Given the description of an element on the screen output the (x, y) to click on. 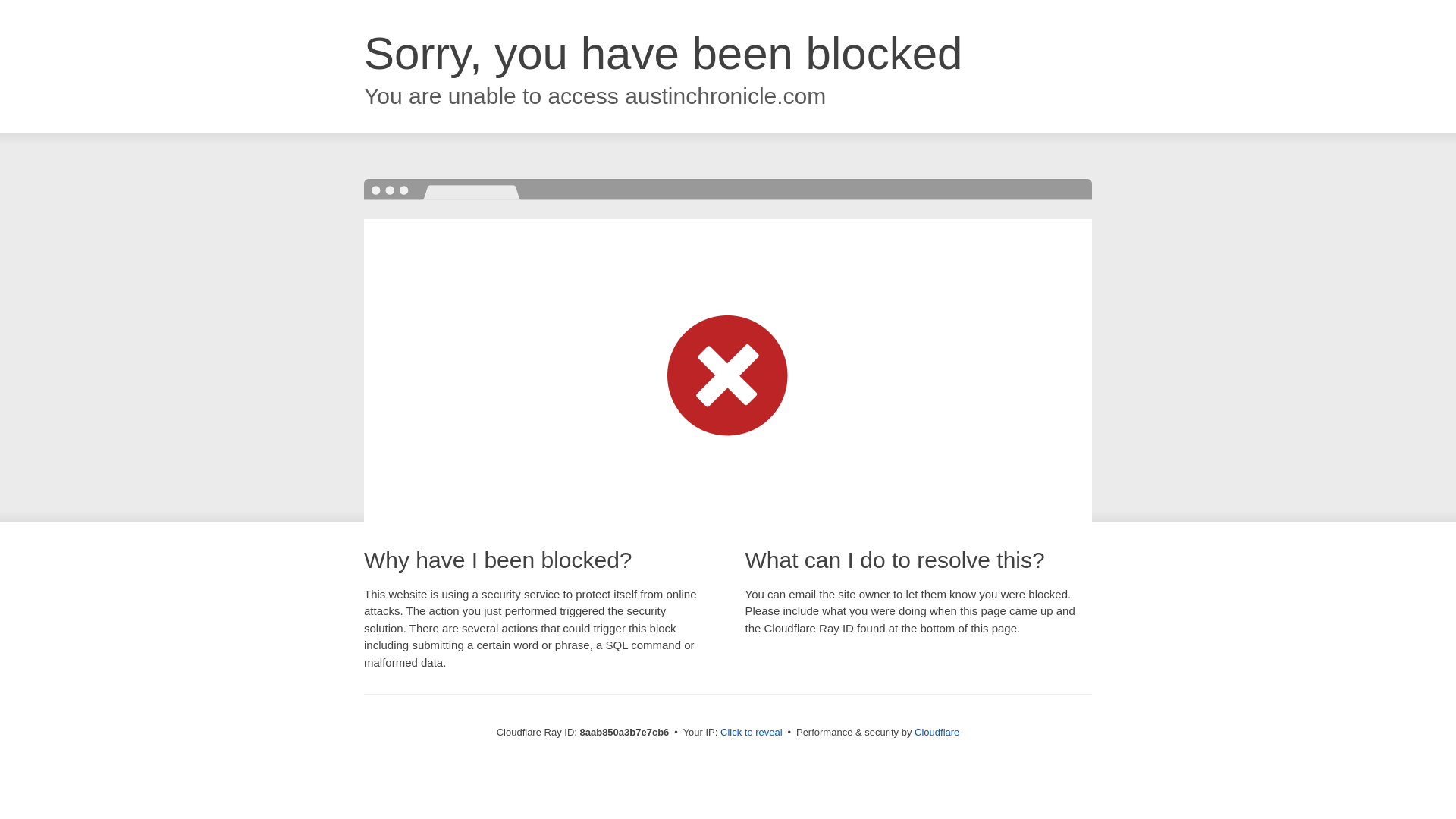
Cloudflare (936, 731)
Click to reveal (751, 732)
